Given the description of an element on the screen output the (x, y) to click on. 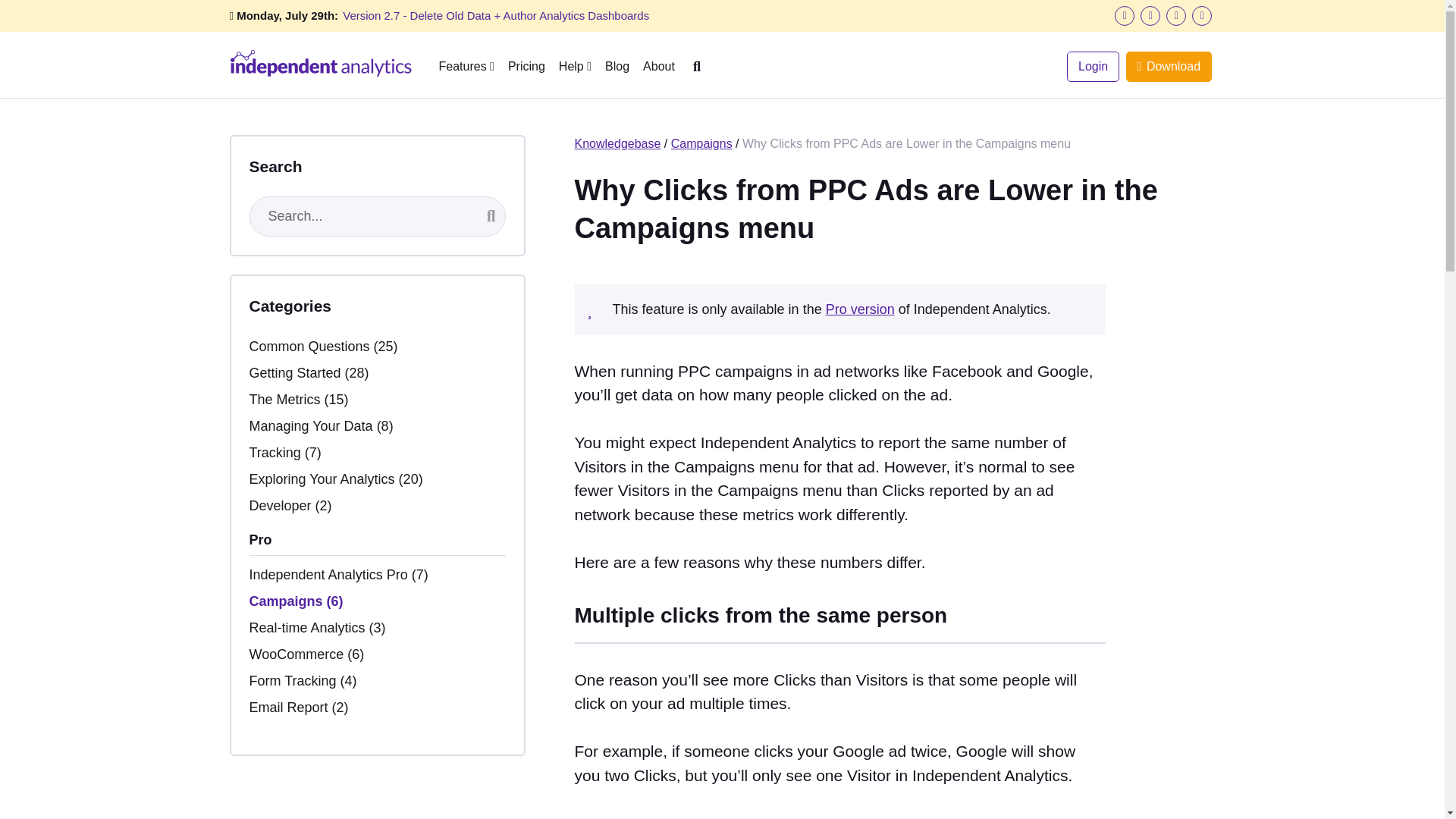
Knowledgebase (618, 142)
Pricing (526, 65)
Download (1168, 66)
Pro version (860, 309)
Help (575, 65)
Blog (616, 65)
About (659, 65)
Login (1093, 66)
Campaigns (701, 142)
Features (465, 65)
